Given the description of an element on the screen output the (x, y) to click on. 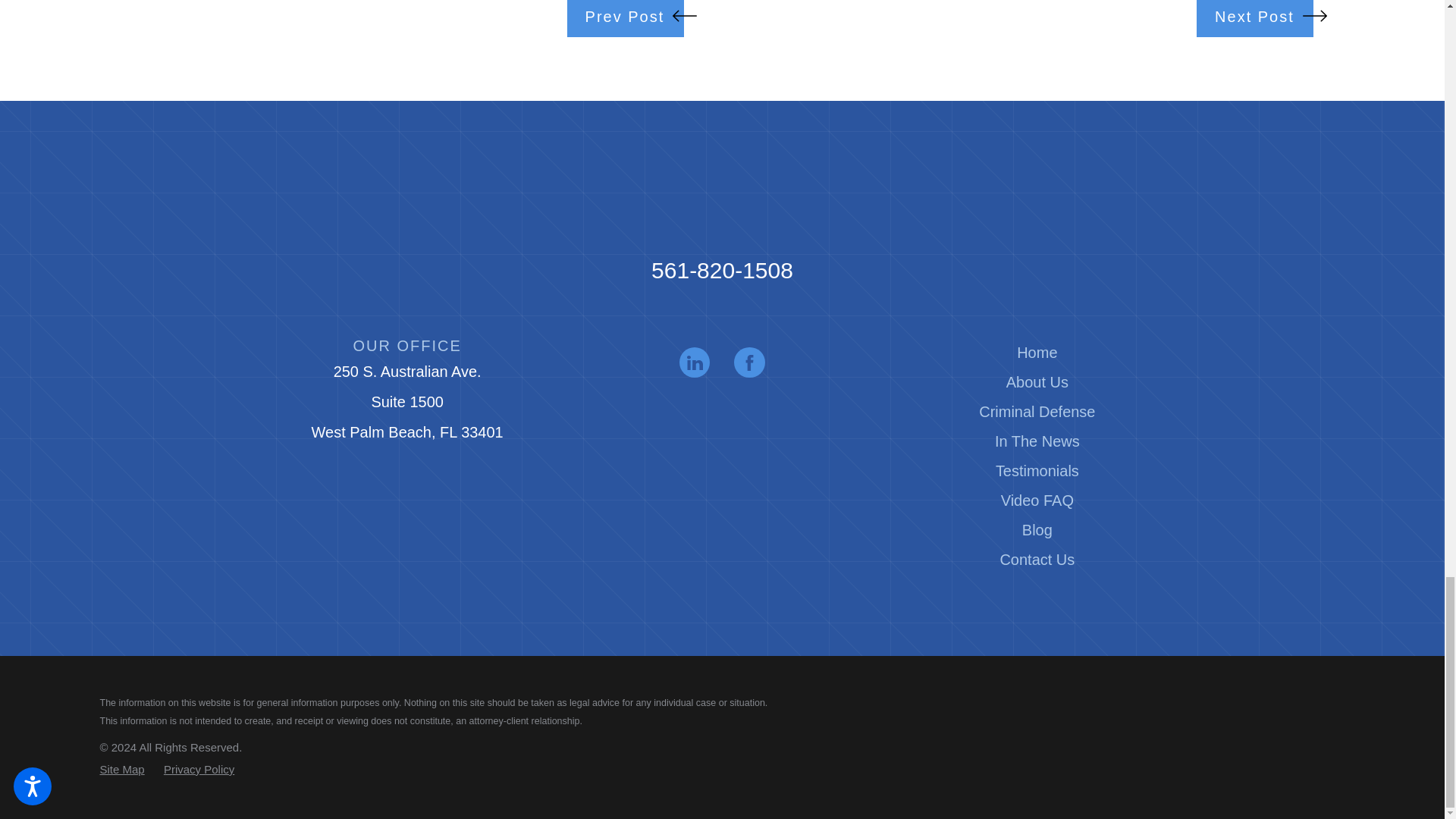
LinkedIn (694, 362)
Facebook (748, 362)
